Given the description of an element on the screen output the (x, y) to click on. 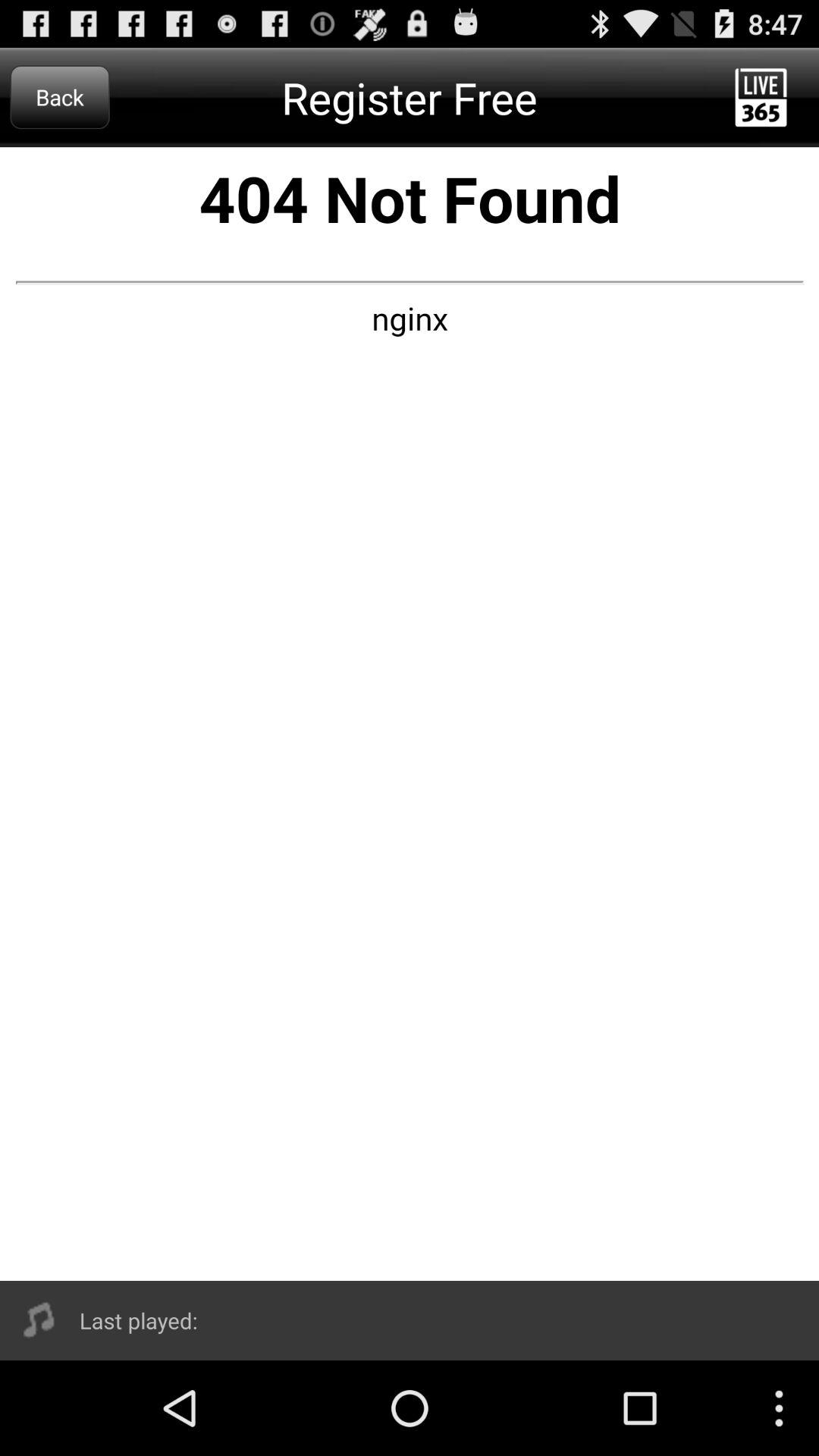
error page (409, 713)
